Given the description of an element on the screen output the (x, y) to click on. 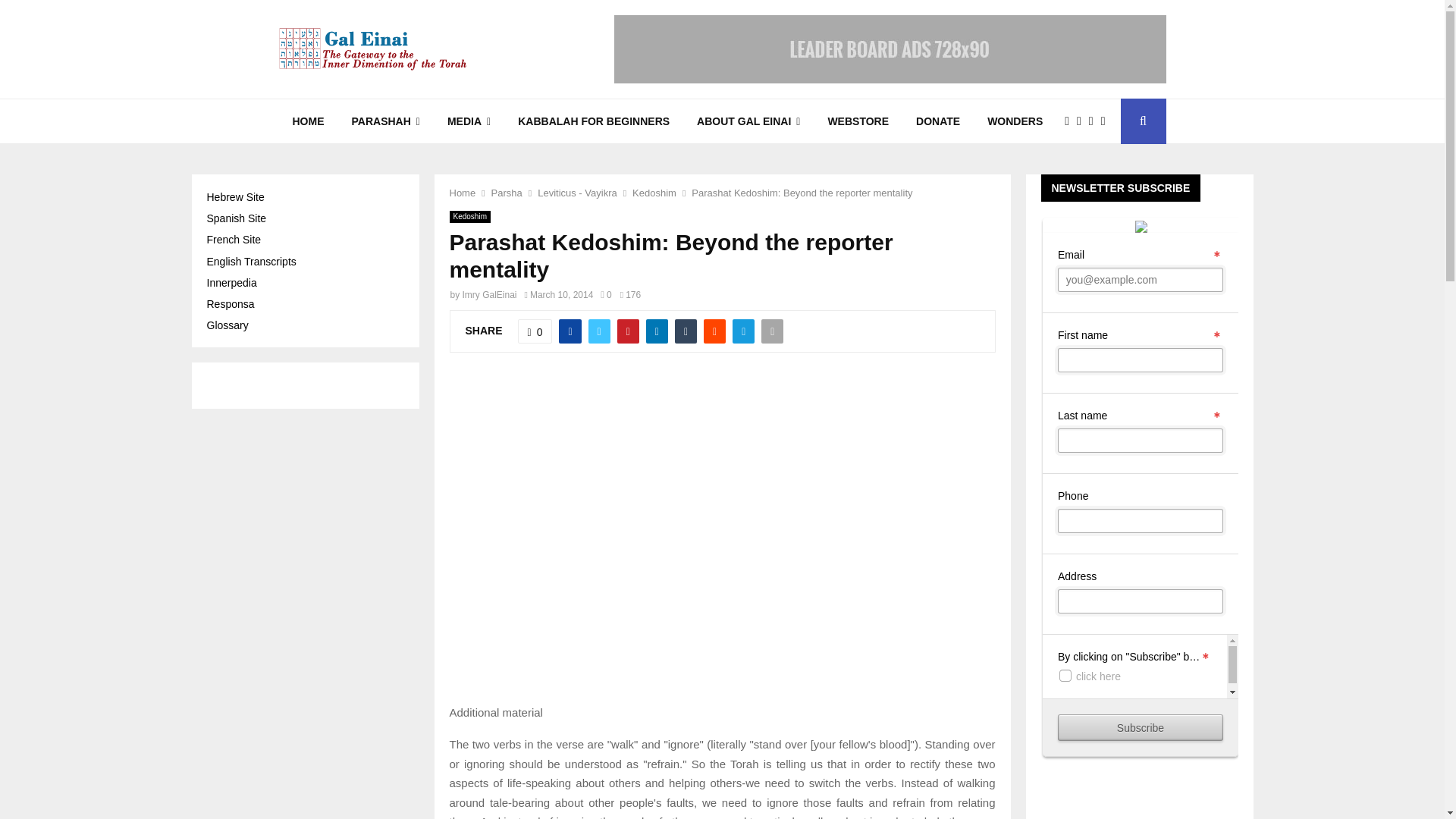
PARASHAH (385, 121)
ABOUT GAL EINAI (747, 121)
Leviticus - Vayikra (577, 193)
Kedoshim (468, 216)
WONDERS (1015, 121)
Kedoshim (654, 193)
DONATE (938, 121)
HOME (308, 121)
MEDIA (468, 121)
Like (535, 331)
